Given the description of an element on the screen output the (x, y) to click on. 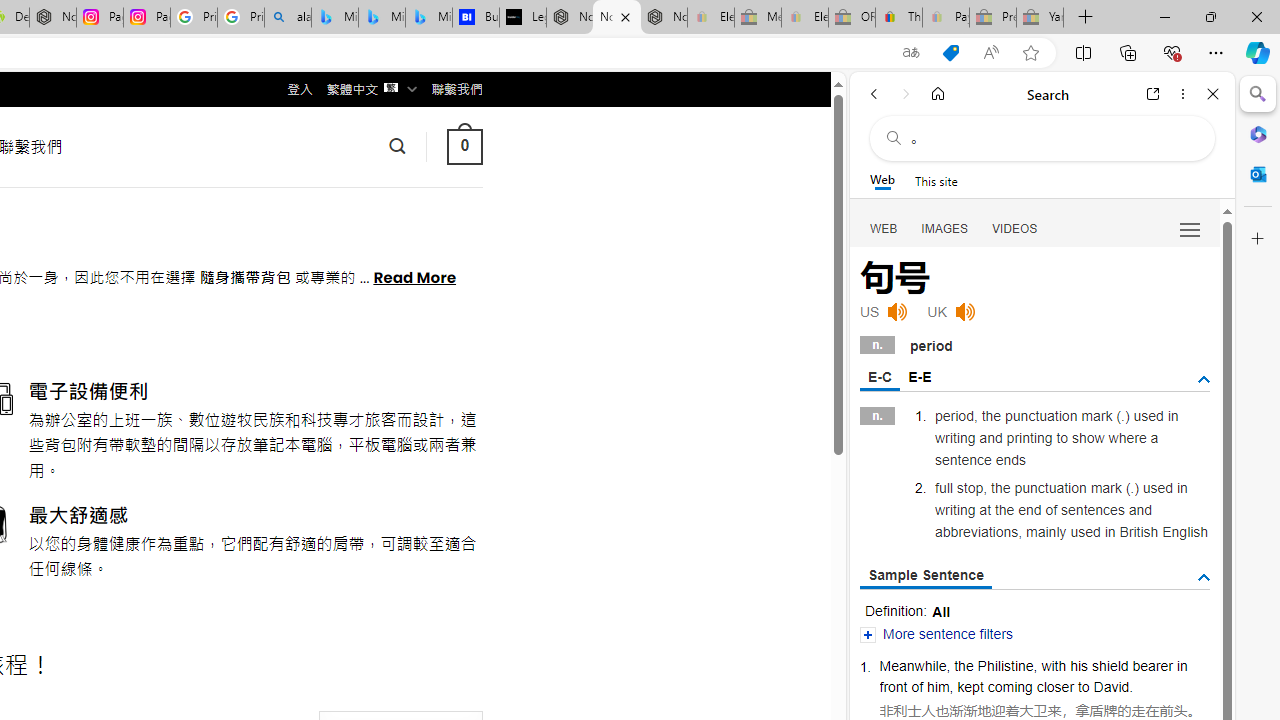
E-C (880, 377)
. (1131, 686)
coming (1009, 686)
Yard, Garden & Outdoor Living - Sleeping (1040, 17)
Show translate options (910, 53)
kept (970, 686)
Payments Terms of Use | eBay.com - Sleeping (945, 17)
closer (1055, 686)
This site has coupons! Shopping in Microsoft Edge (950, 53)
